Given the description of an element on the screen output the (x, y) to click on. 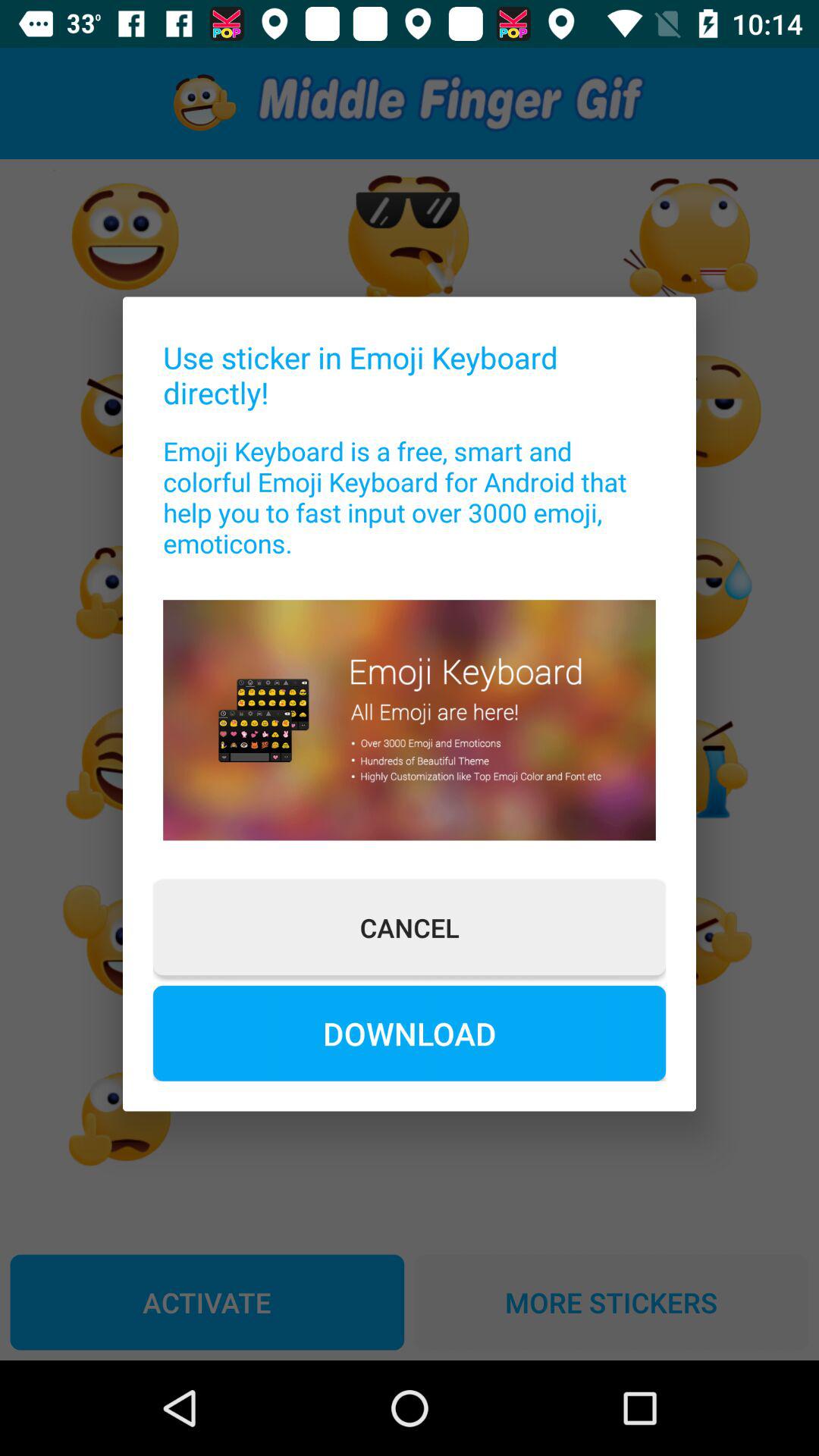
launch the icon at the bottom (409, 1033)
